Given the description of an element on the screen output the (x, y) to click on. 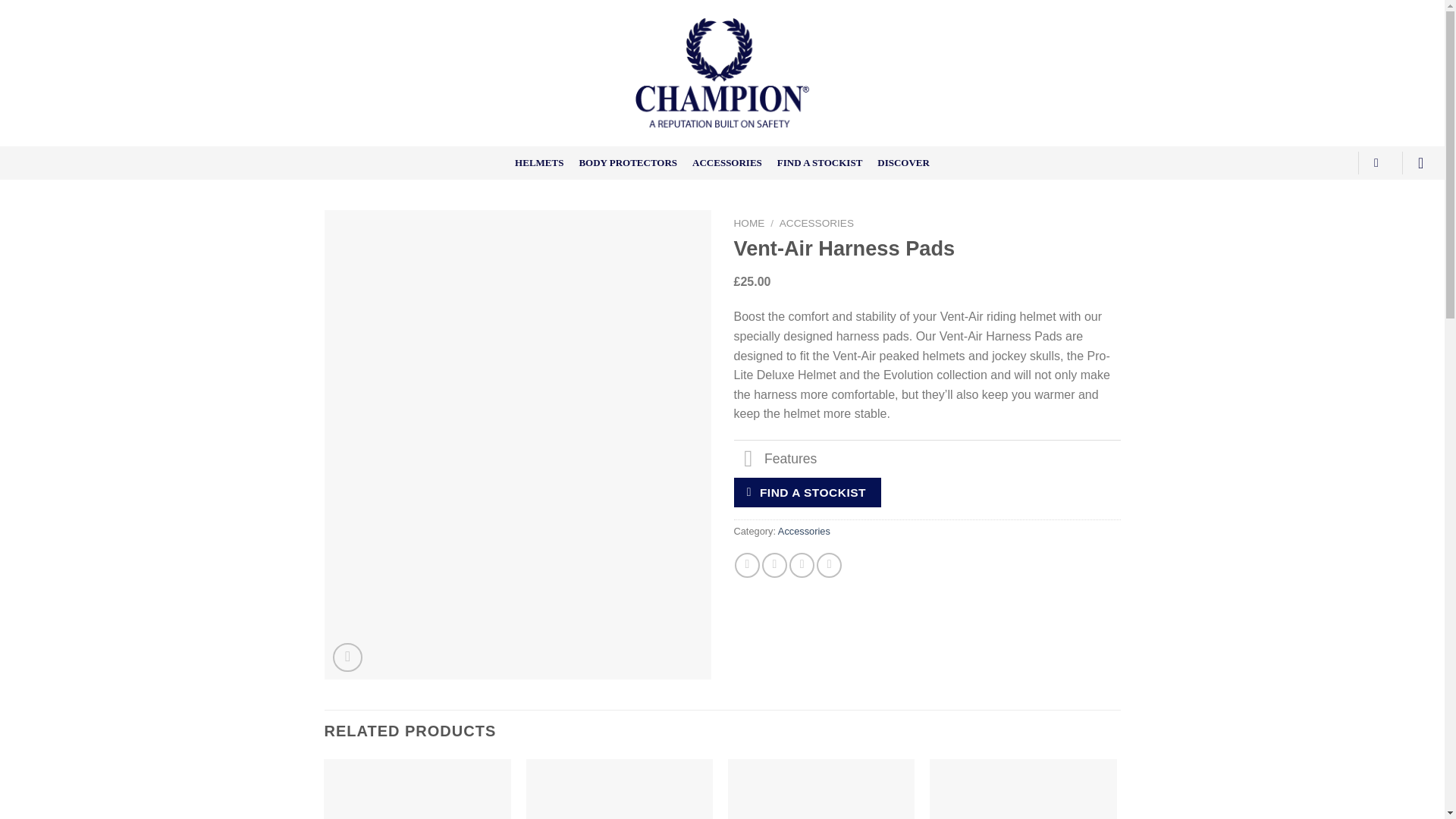
ACCESSORIES (727, 163)
Accessories (803, 531)
FIND A STOCKIST (806, 491)
BODY PROTECTORS (627, 163)
Pin on Pinterest (828, 565)
HOME (749, 223)
Zoom (347, 657)
ACCESSORIES (815, 223)
Share on Twitter (774, 565)
